Given the description of an element on the screen output the (x, y) to click on. 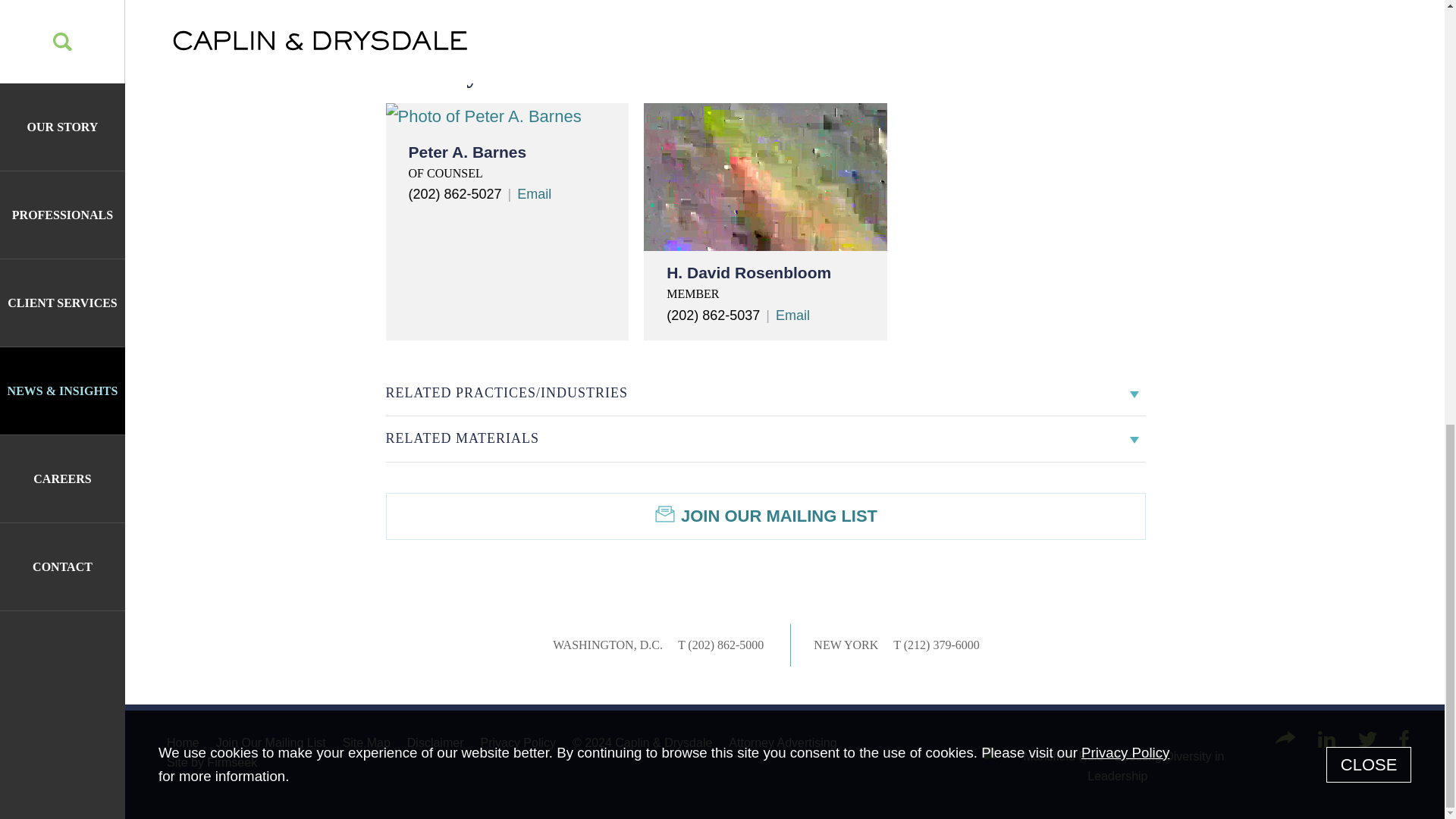
linkedin Icon (1326, 739)
Share (1285, 737)
twitter Icon (1367, 739)
